Given the description of an element on the screen output the (x, y) to click on. 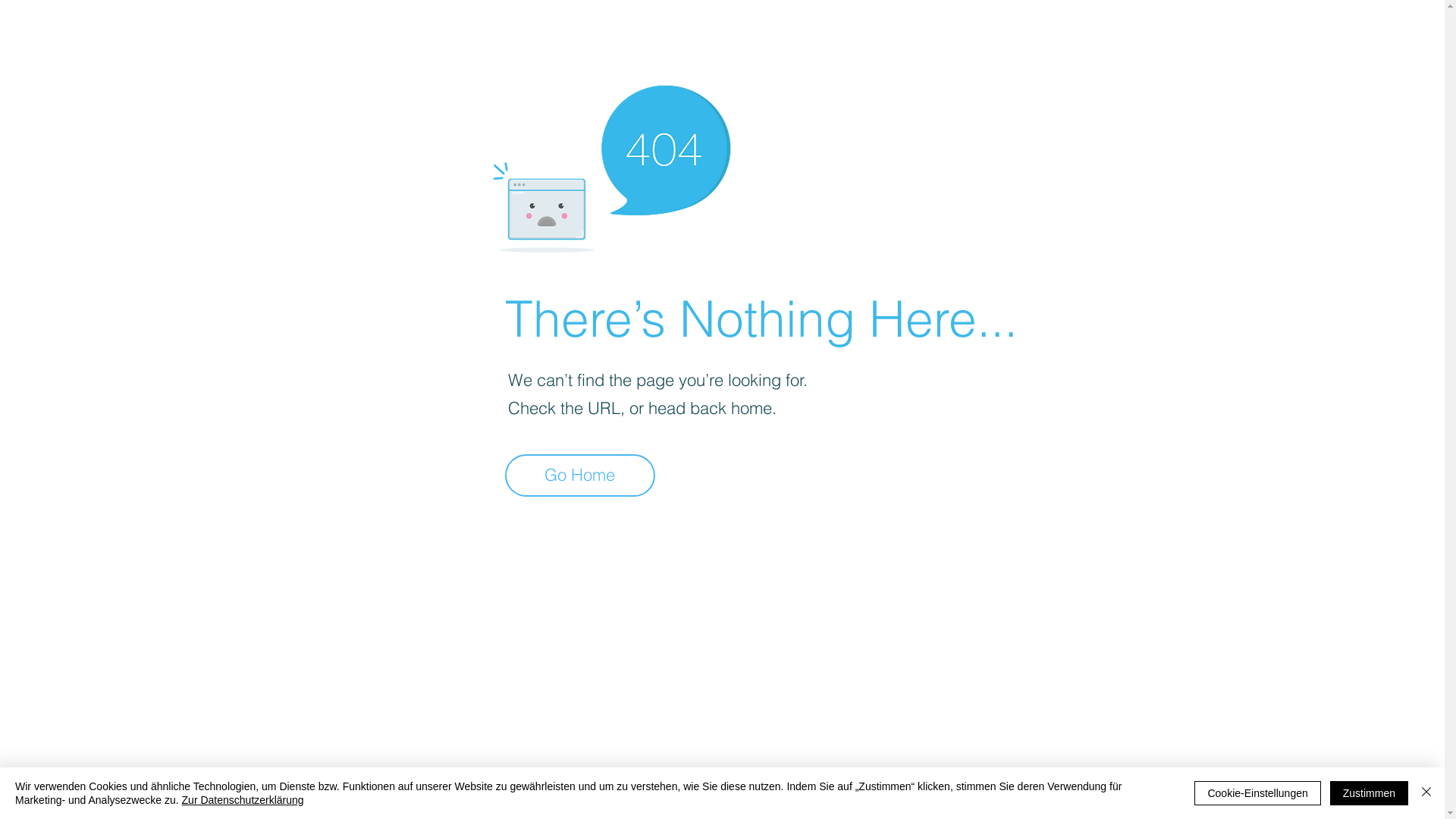
404-icon_2.png Element type: hover (610, 164)
Cookie-Einstellungen Element type: text (1257, 793)
Go Home Element type: text (580, 475)
Zustimmen Element type: text (1369, 793)
